Given the description of an element on the screen output the (x, y) to click on. 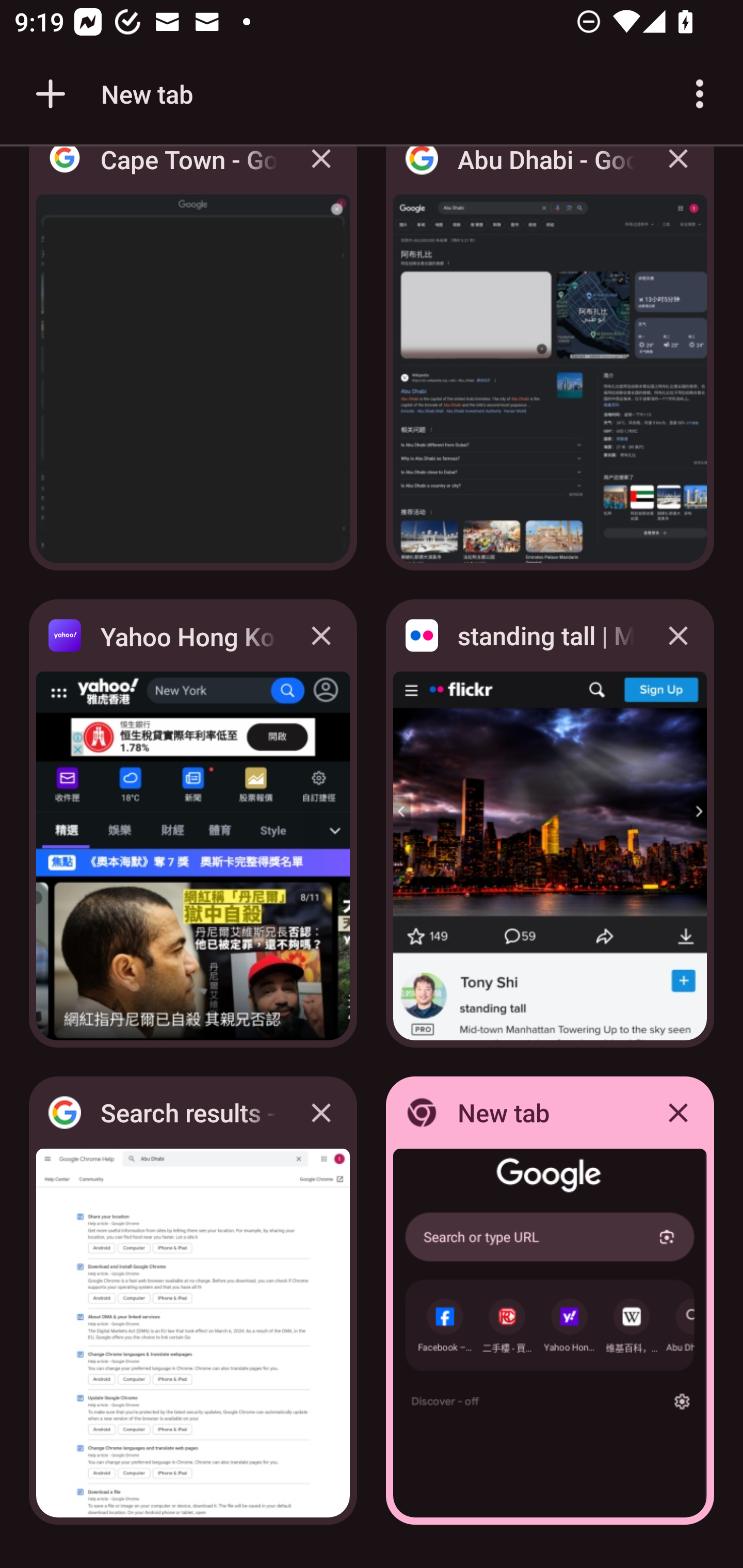
New tab (111, 93)
Customize and control Google Chrome (699, 93)
Close Cape Town - Google 搜索 tab (320, 173)
Close Abu Dhabi - Google 搜索 tab (677, 173)
Close Yahoo Hong Kong 雅虎香港 tab (320, 635)
New tab New tab, tab Close New tab tab (549, 1300)
Close Search results - Google Chrome Help tab (320, 1112)
Close New tab tab (677, 1112)
